Given the description of an element on the screen output the (x, y) to click on. 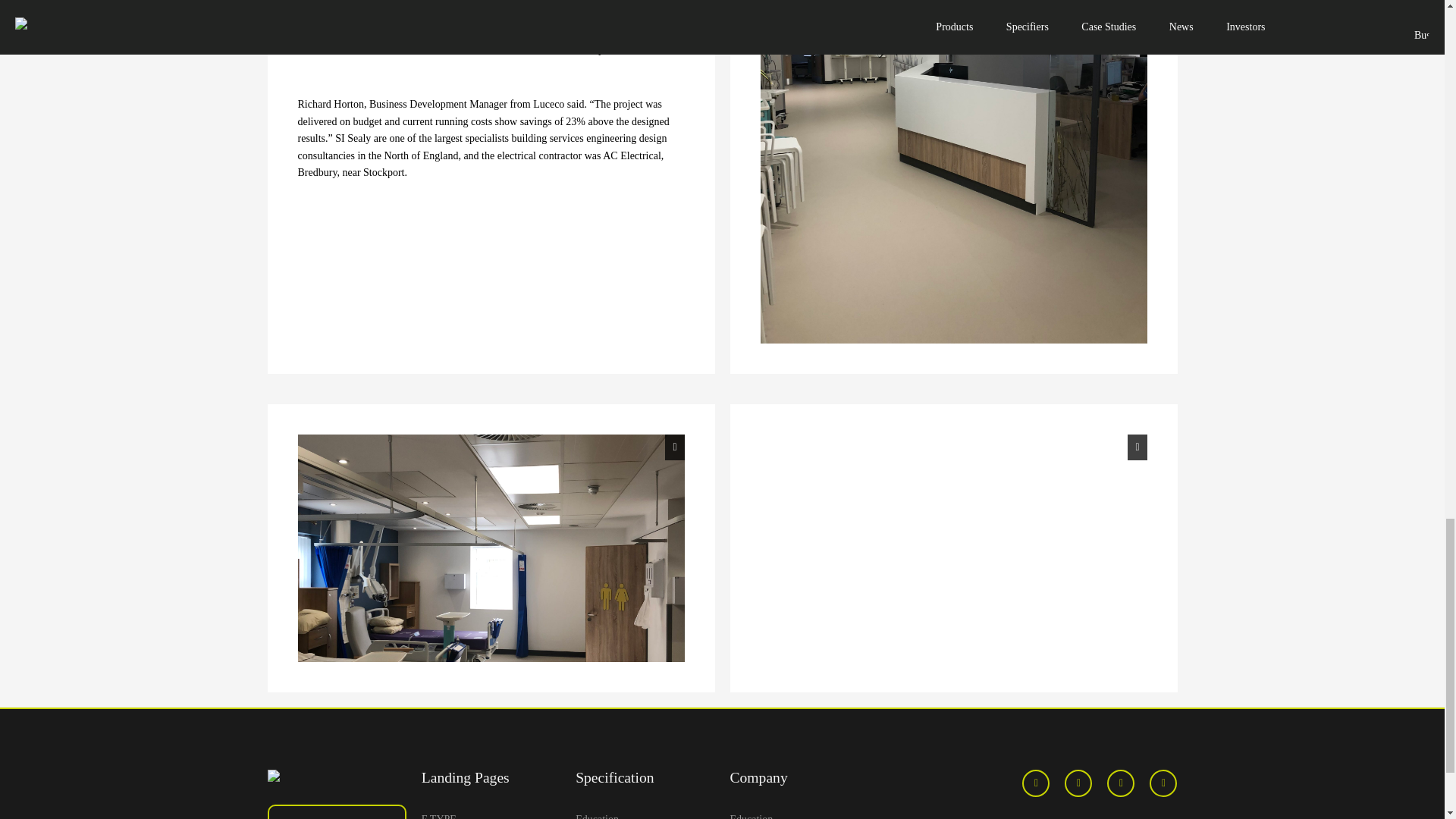
Education (798, 814)
F TYPE (491, 814)
United Kingdom (336, 816)
Education (644, 814)
